Given the description of an element on the screen output the (x, y) to click on. 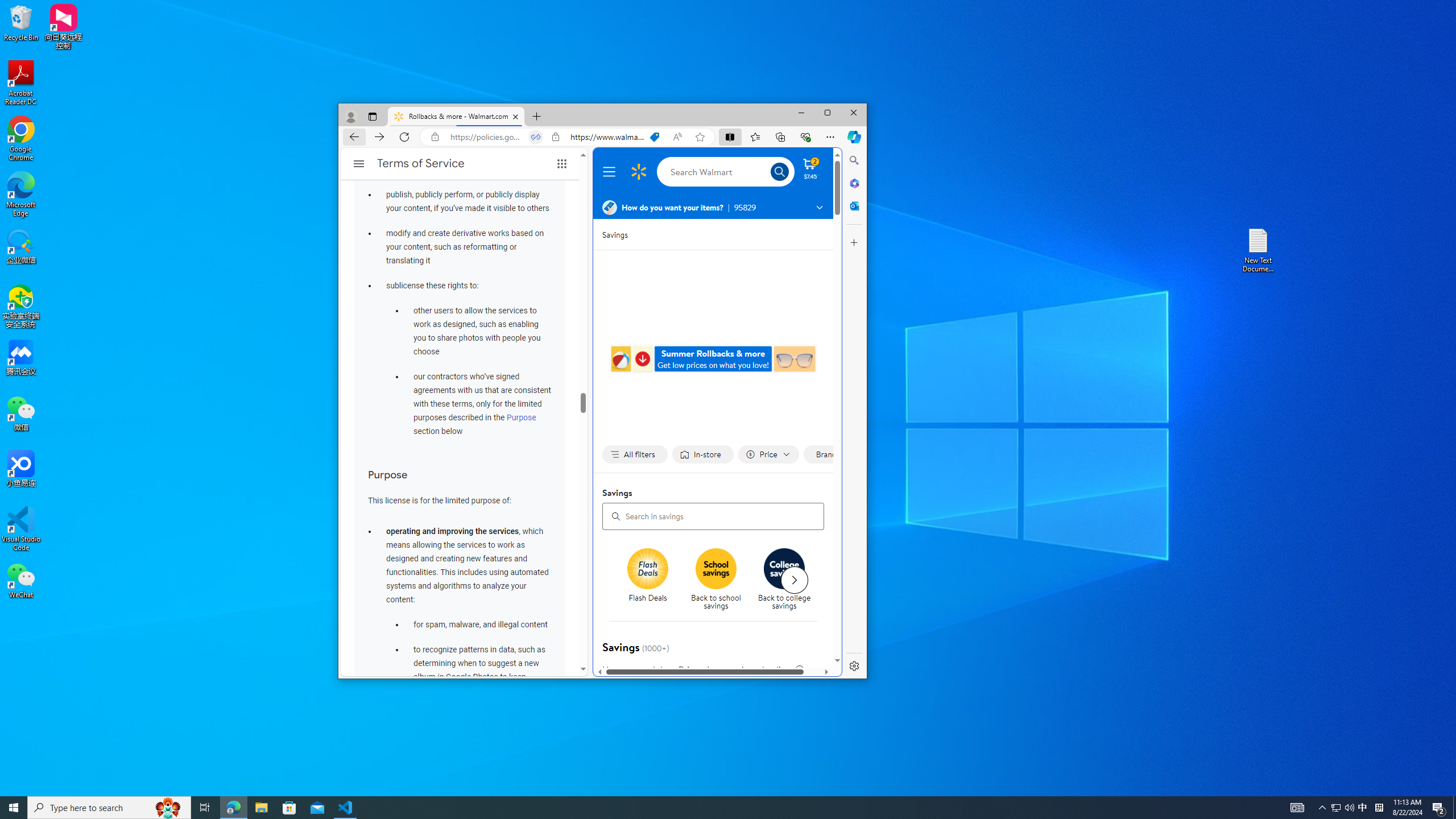
Show desktop (1454, 807)
Menu (611, 171)
Filter by In-store (702, 454)
Rollbacks & more - Walmart.com (455, 116)
Flash deals (1362, 807)
Search highlights icon opens search home window (647, 568)
AutomationID: 4105 (167, 807)
WeChat (1297, 807)
